Given the description of an element on the screen output the (x, y) to click on. 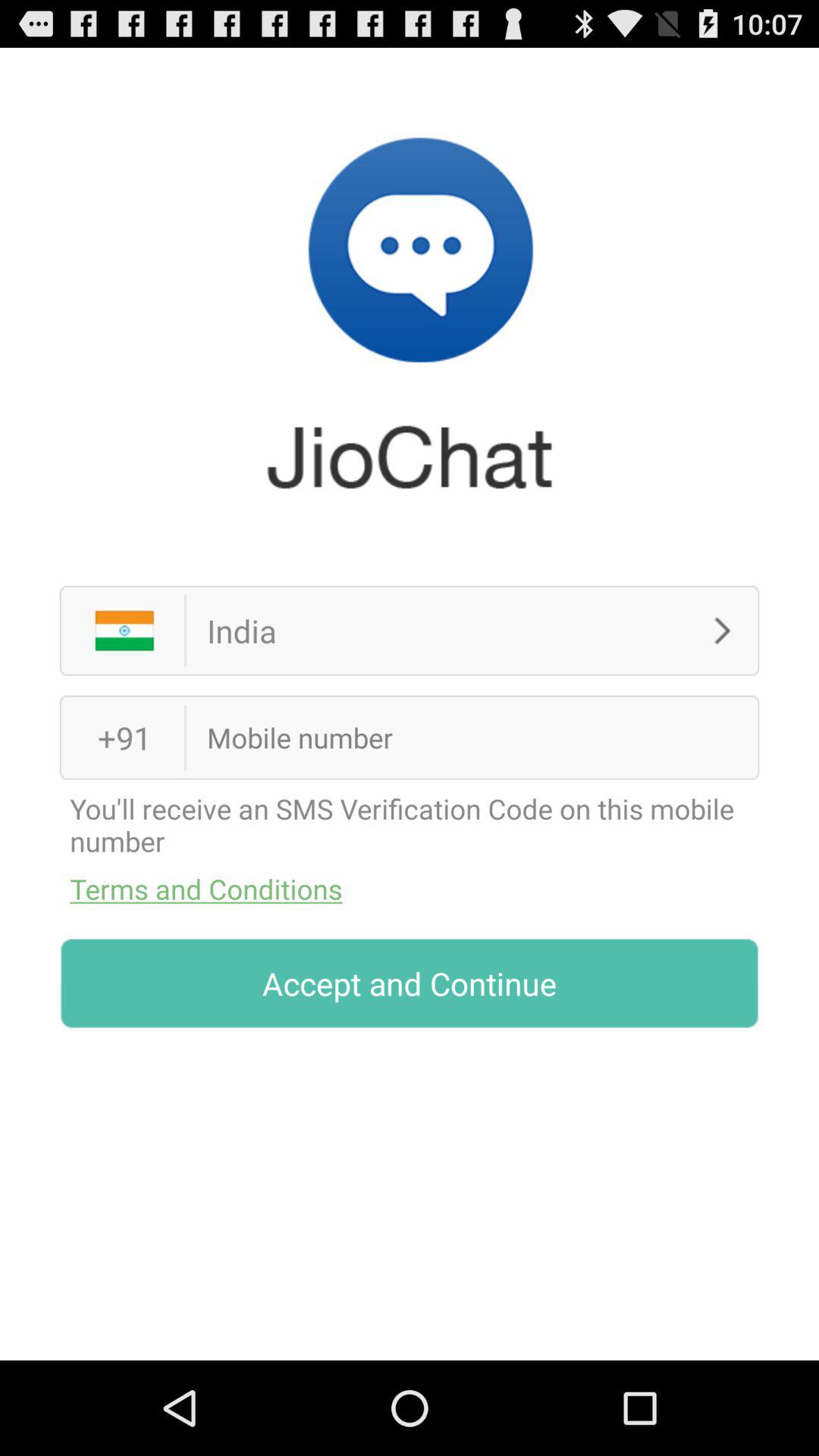
cell phone number (448, 737)
